Given the description of an element on the screen output the (x, y) to click on. 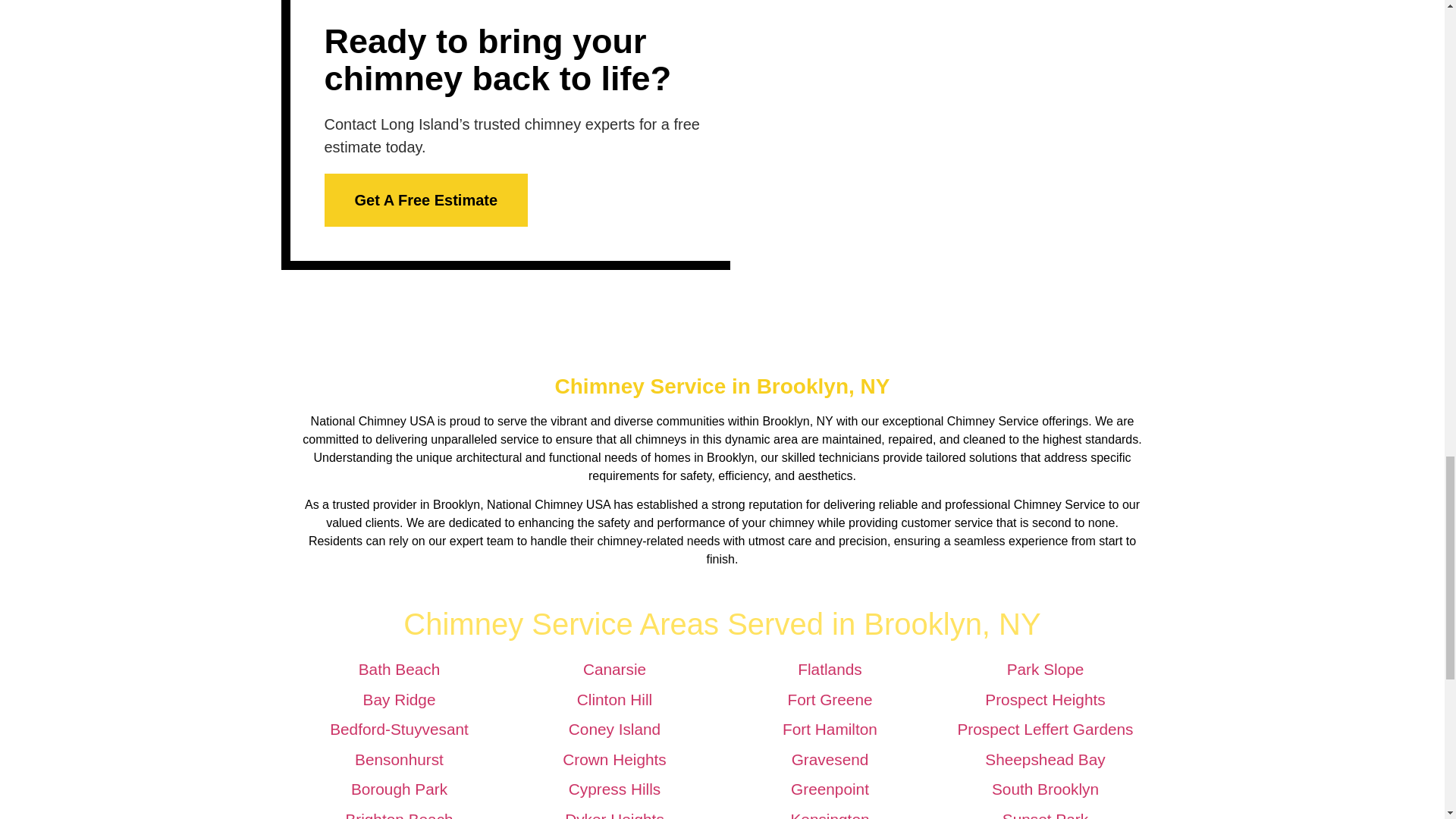
Brighton Beach (398, 814)
Bedford-Stuyvesant (399, 728)
Get A Free Estimate (426, 199)
Borough Park (398, 788)
Bensonhurst (399, 759)
Bay Ridge (398, 699)
Bath Beach (399, 669)
